Given the description of an element on the screen output the (x, y) to click on. 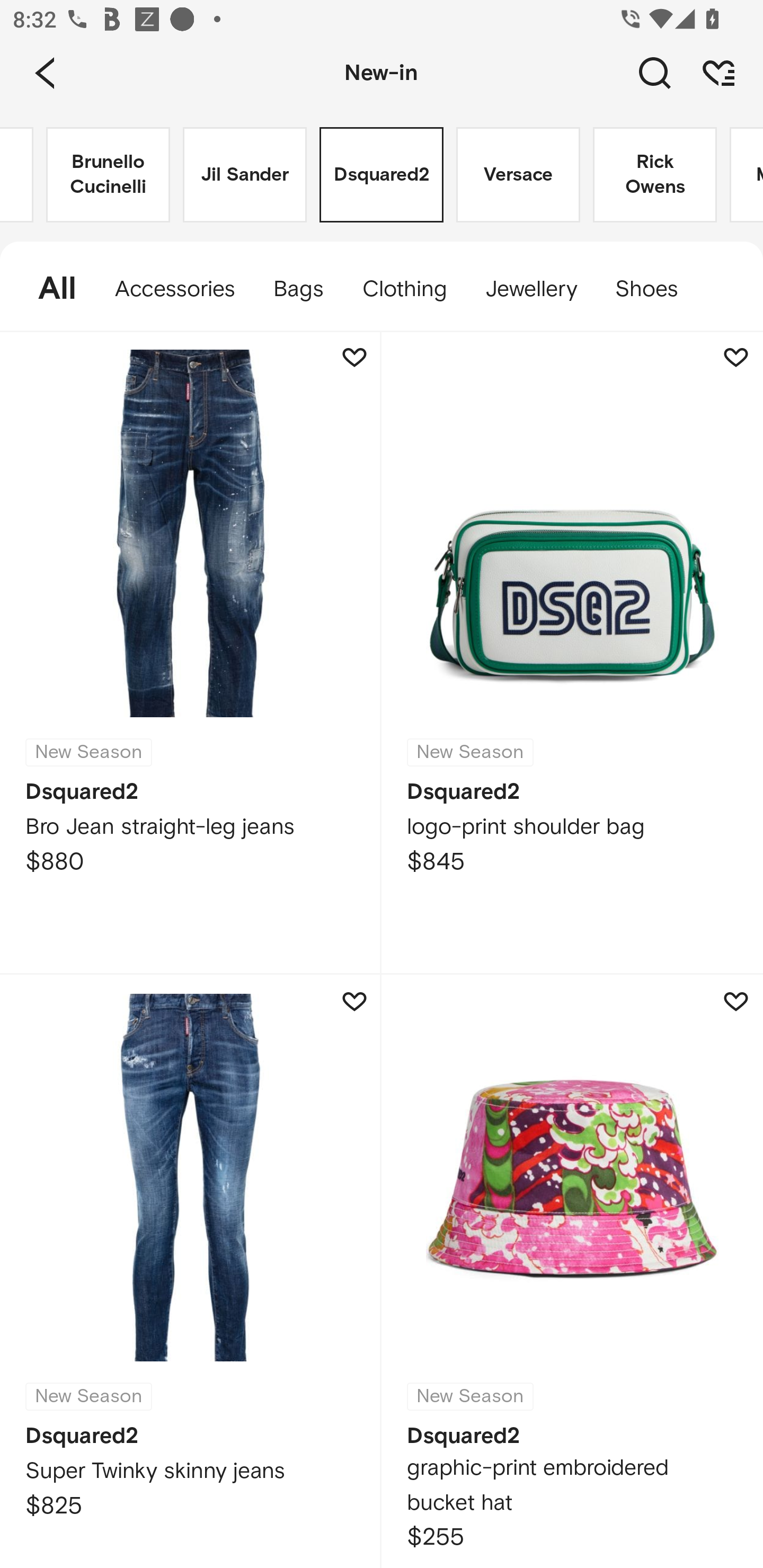
Brunello Cucinelli (107, 174)
Jil Sander (244, 174)
Dsquared2 (381, 174)
Versace (517, 174)
Rick Owens (654, 174)
All (47, 288)
Accessories (174, 288)
Bags (298, 288)
Clothing (403, 288)
Jewellery (530, 288)
Shoes (655, 288)
New Season Dsquared2 logo-print shoulder bag $845 (572, 652)
